Given the description of an element on the screen output the (x, y) to click on. 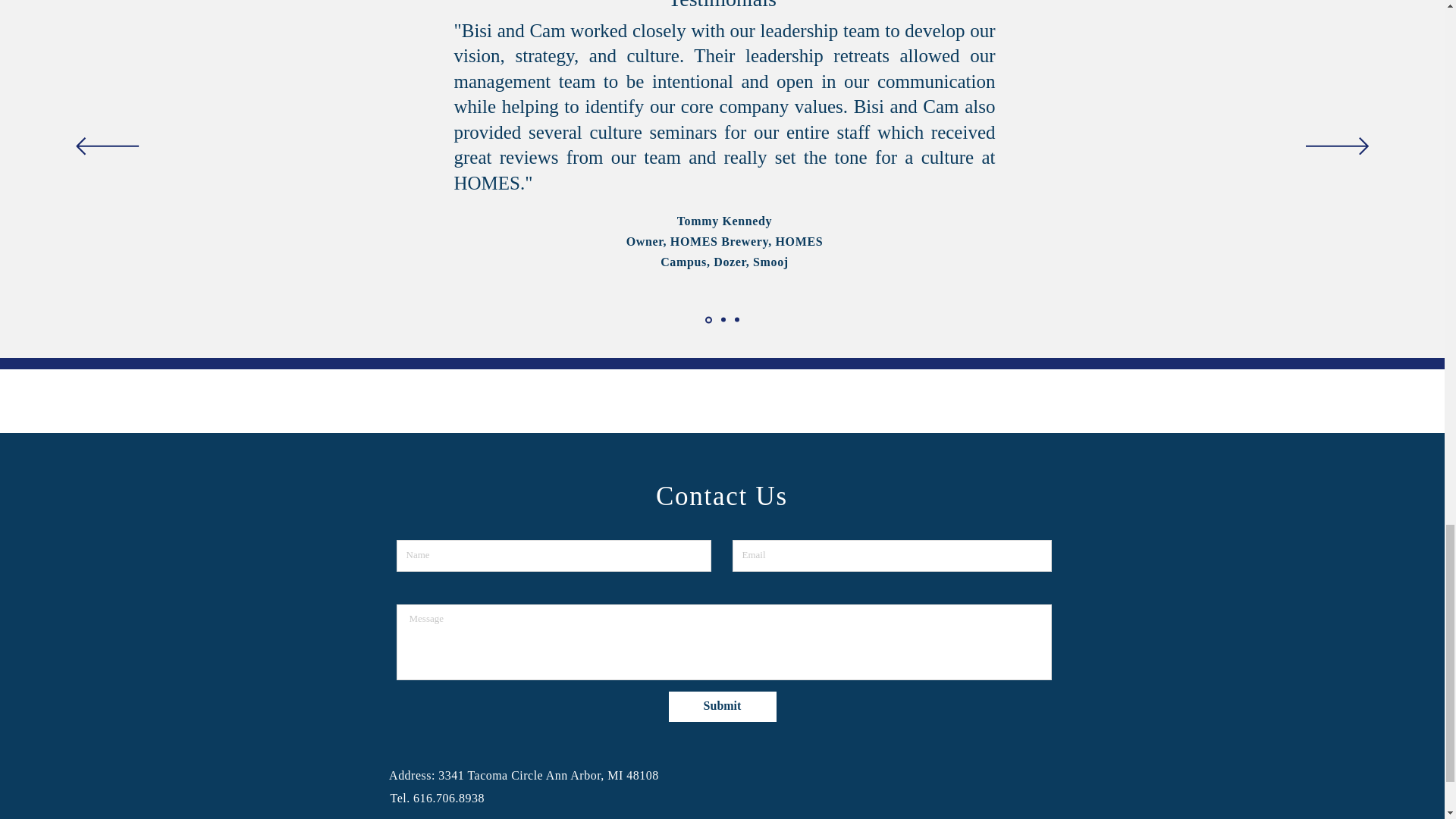
Submit (722, 706)
